Given the description of an element on the screen output the (x, y) to click on. 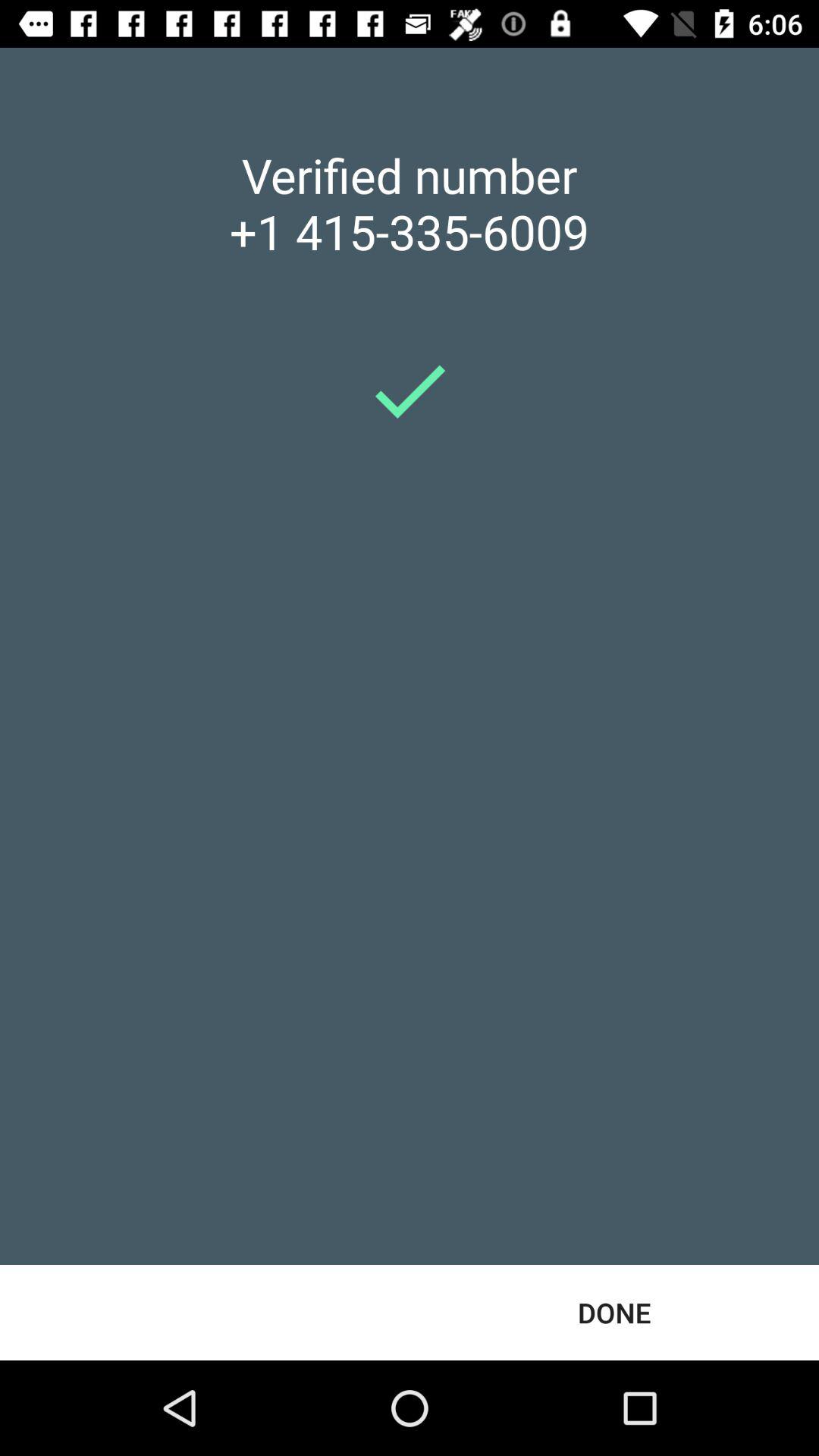
launch done item (614, 1312)
